Given the description of an element on the screen output the (x, y) to click on. 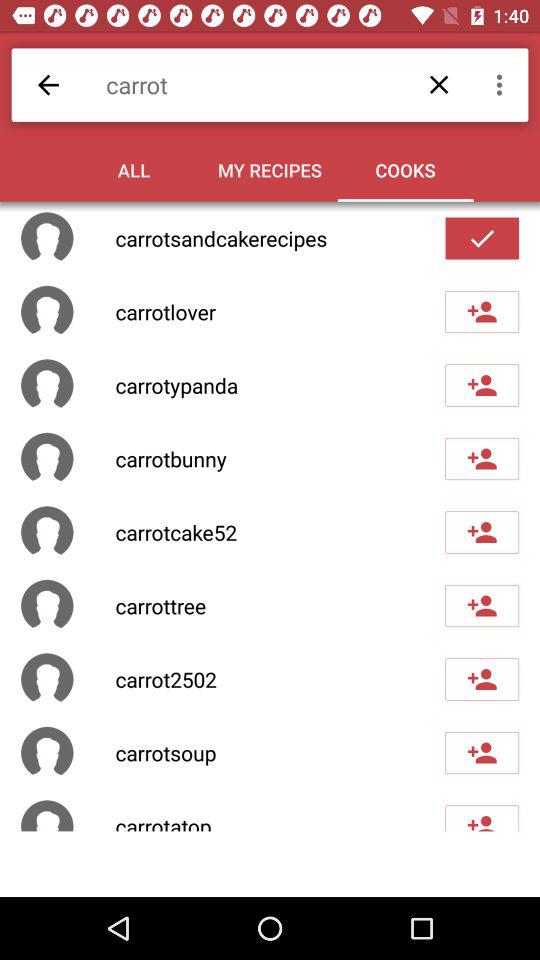
add user carrotcake52 to your cooks (482, 532)
